Given the description of an element on the screen output the (x, y) to click on. 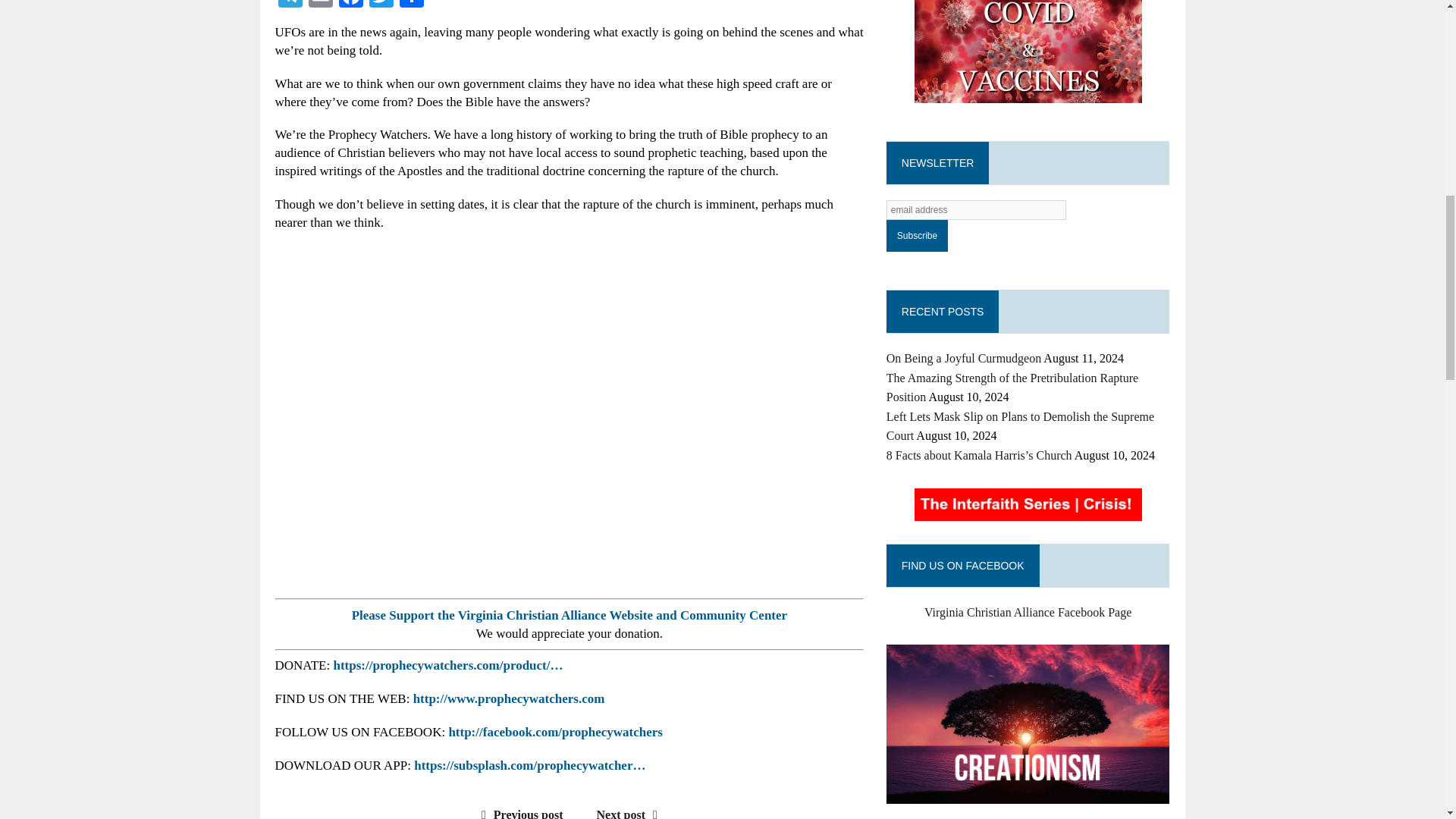
Facebook (349, 5)
Email (319, 5)
Telegram (289, 5)
Subscribe (916, 235)
Twitter (380, 5)
